Given the description of an element on the screen output the (x, y) to click on. 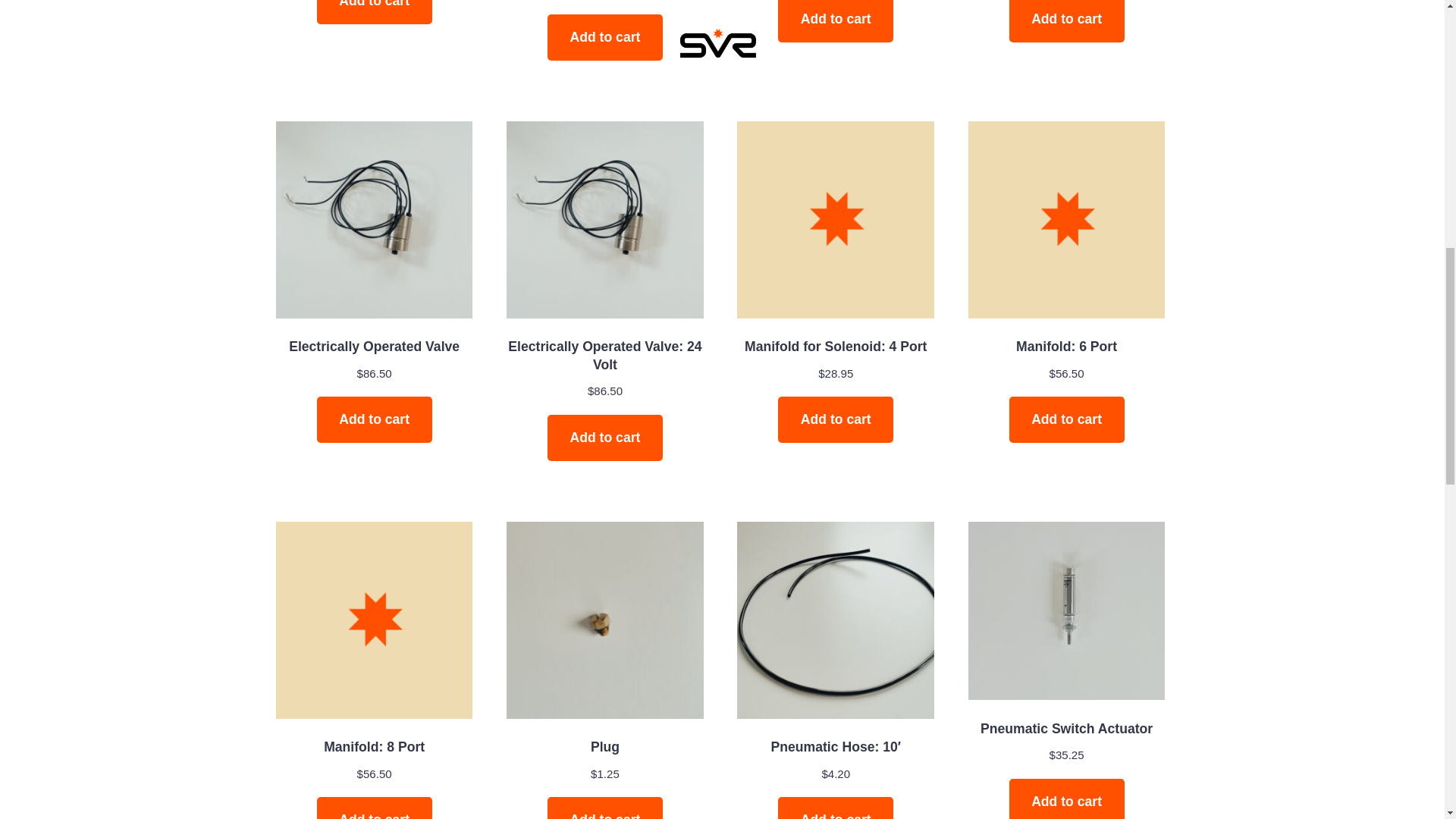
Add to cart (374, 12)
Add to cart (835, 807)
Add to cart (1066, 419)
Add to cart (604, 807)
Add to cart (604, 37)
Add to cart (374, 807)
Add to cart (374, 419)
Add to cart (1066, 798)
Add to cart (835, 419)
Add to cart (604, 437)
Add to cart (835, 21)
Add to cart (1066, 21)
